Given the description of an element on the screen output the (x, y) to click on. 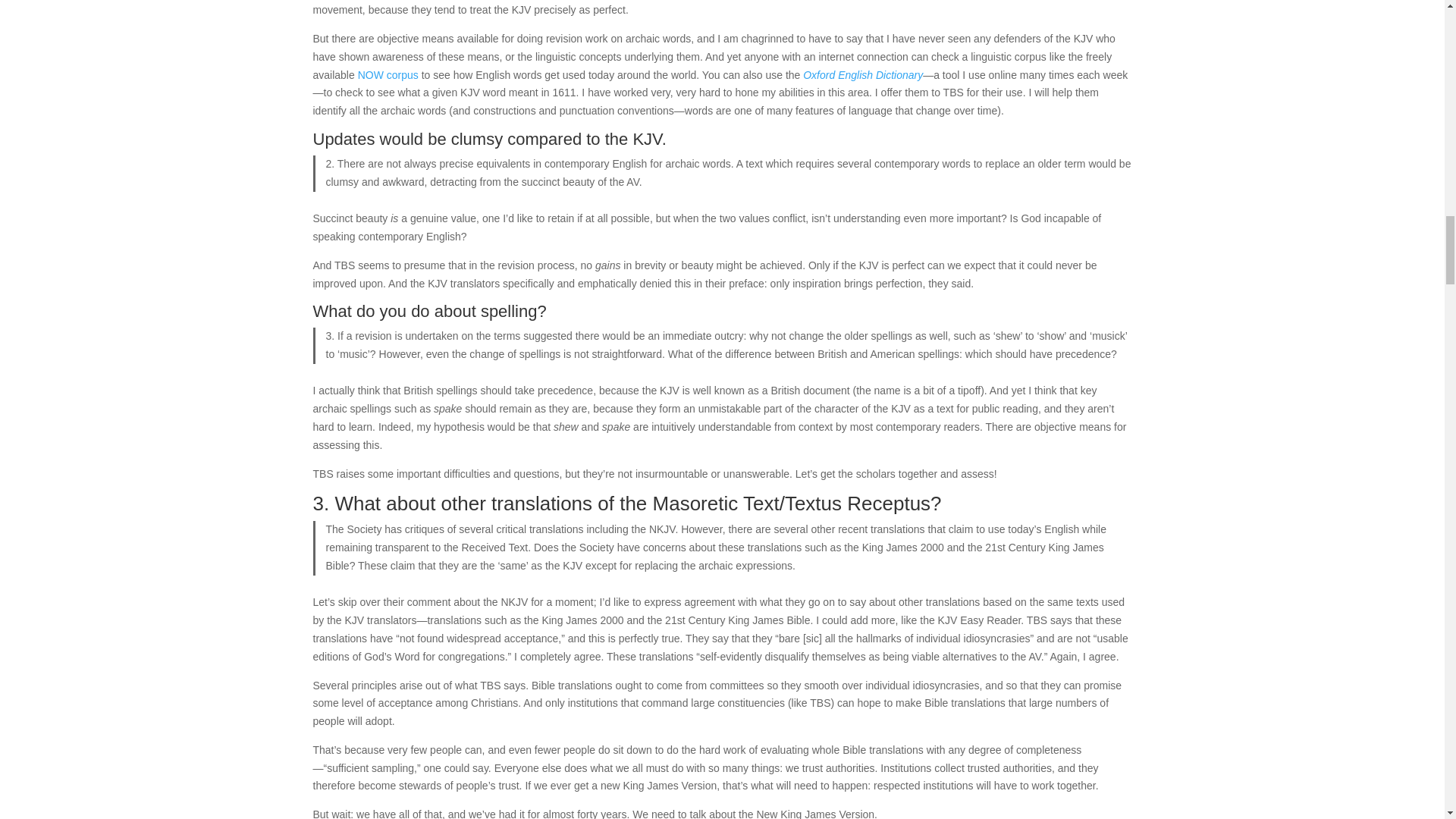
NOW corpus (388, 74)
Oxford English Dictionary (863, 74)
